Given the description of an element on the screen output the (x, y) to click on. 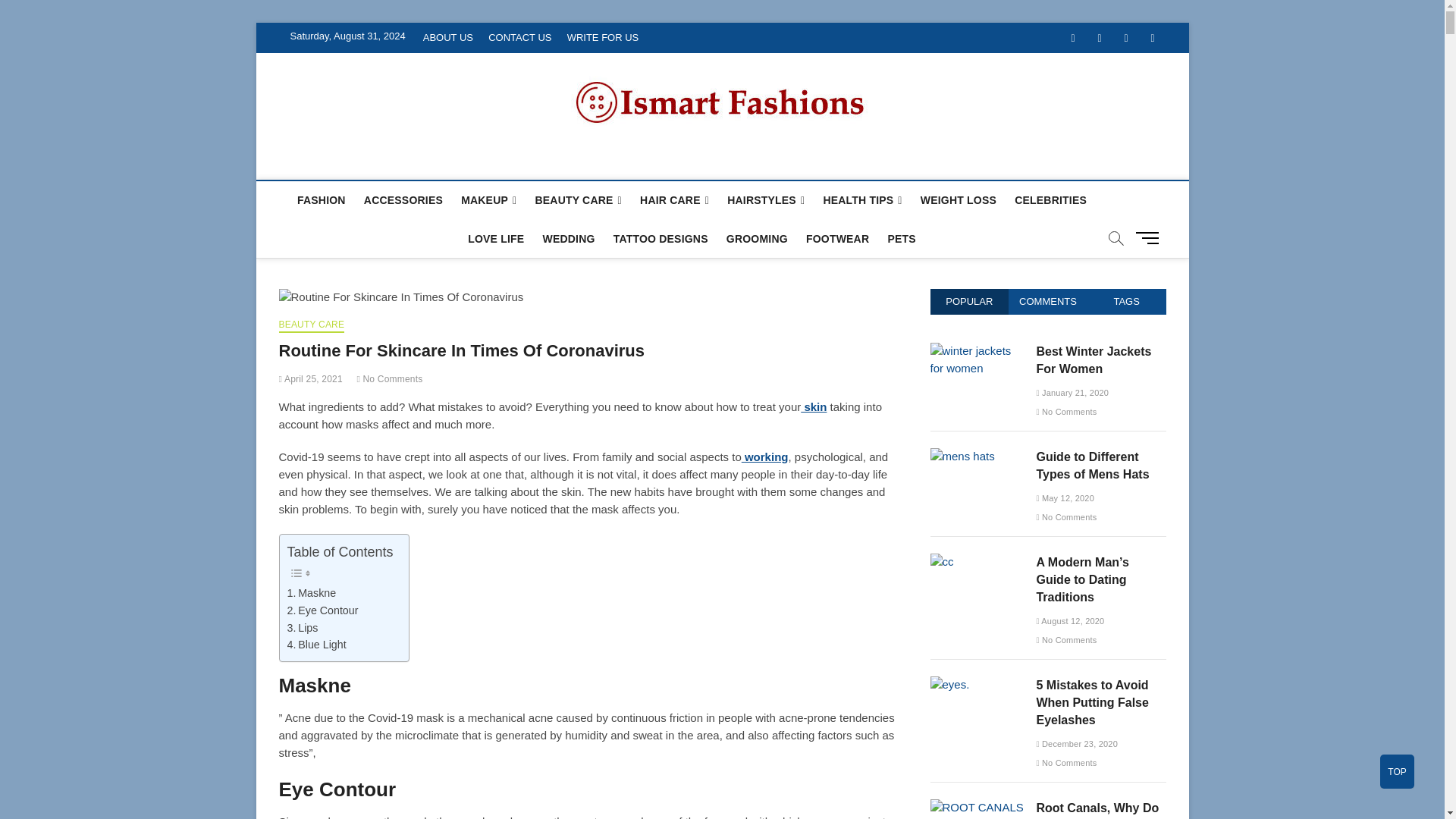
WRITE FOR US (602, 37)
Ismart Fashions (383, 162)
Facebook (1072, 38)
FASHION (321, 199)
Eye Contour (322, 610)
HEALTH TIPS (861, 200)
Twitter (1099, 38)
Guide to Different Types of Mens Hats (962, 455)
May 12, 2020 (1064, 497)
Linkedin (1152, 38)
